Given the description of an element on the screen output the (x, y) to click on. 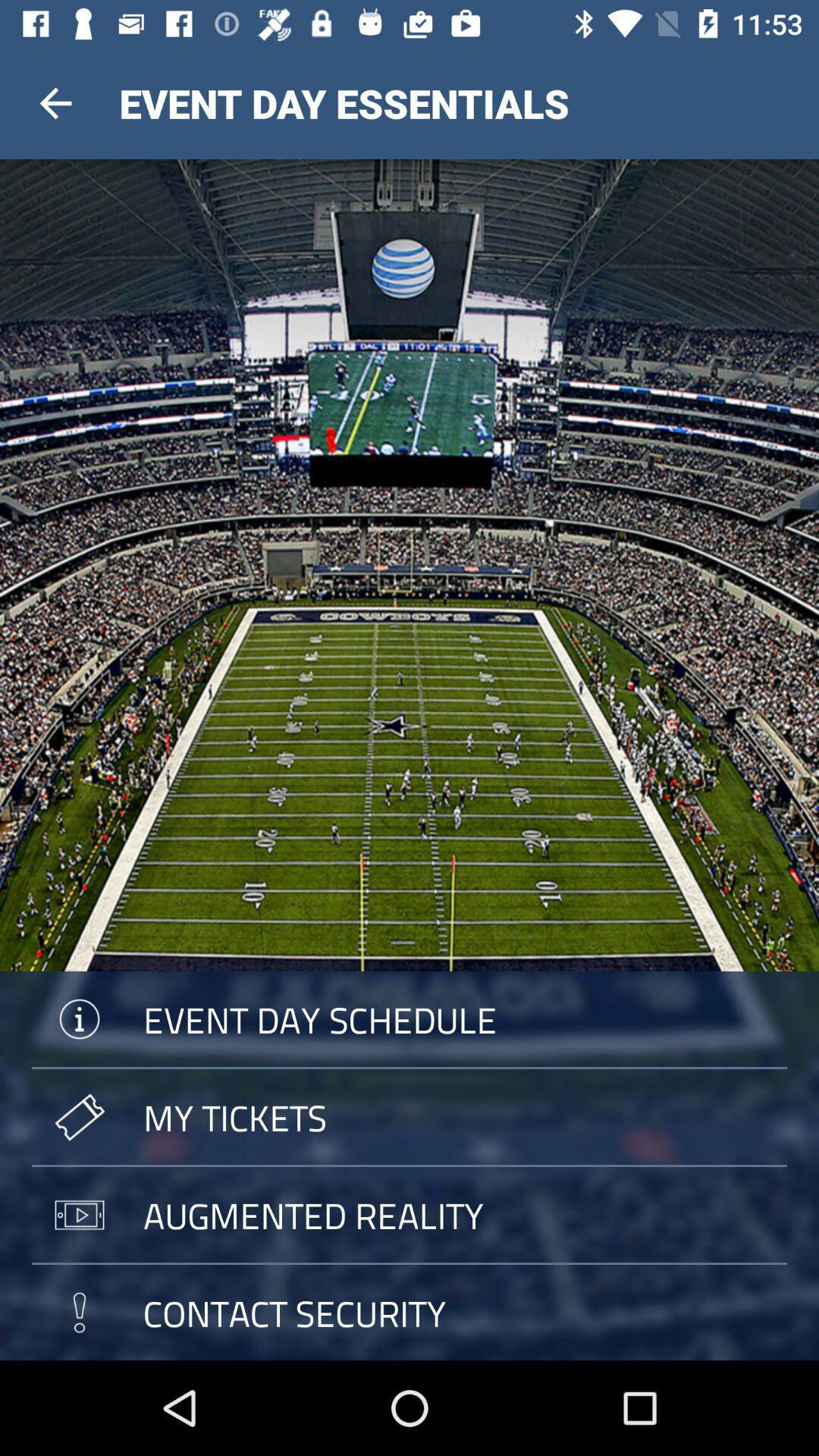
open the app to the left of the event day essentials (55, 103)
